Given the description of an element on the screen output the (x, y) to click on. 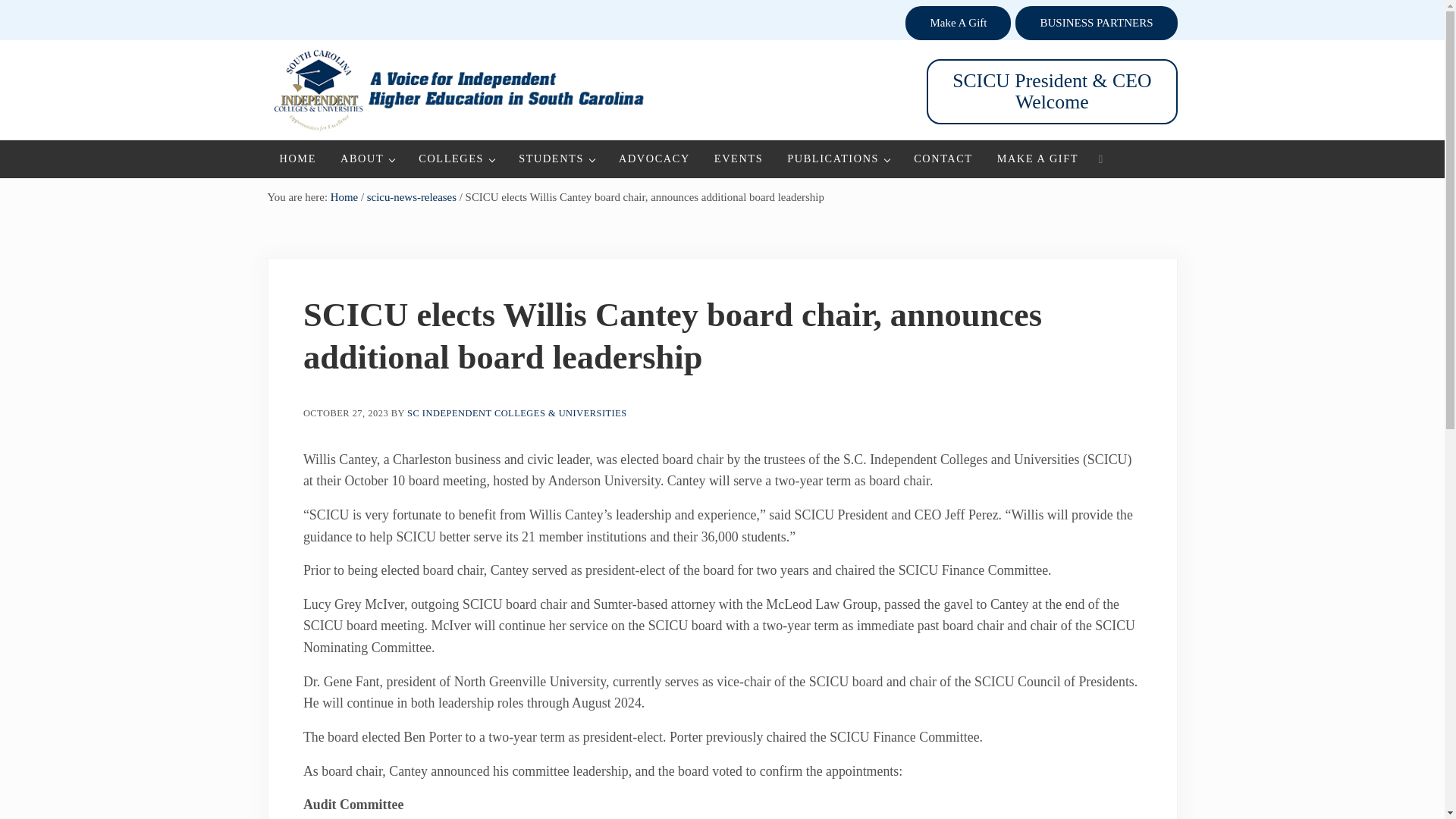
BUSINESS PARTNERS (1095, 22)
HOME (297, 158)
COLLEGES (456, 158)
Make A Gift (957, 22)
ABOUT (367, 158)
